Given the description of an element on the screen output the (x, y) to click on. 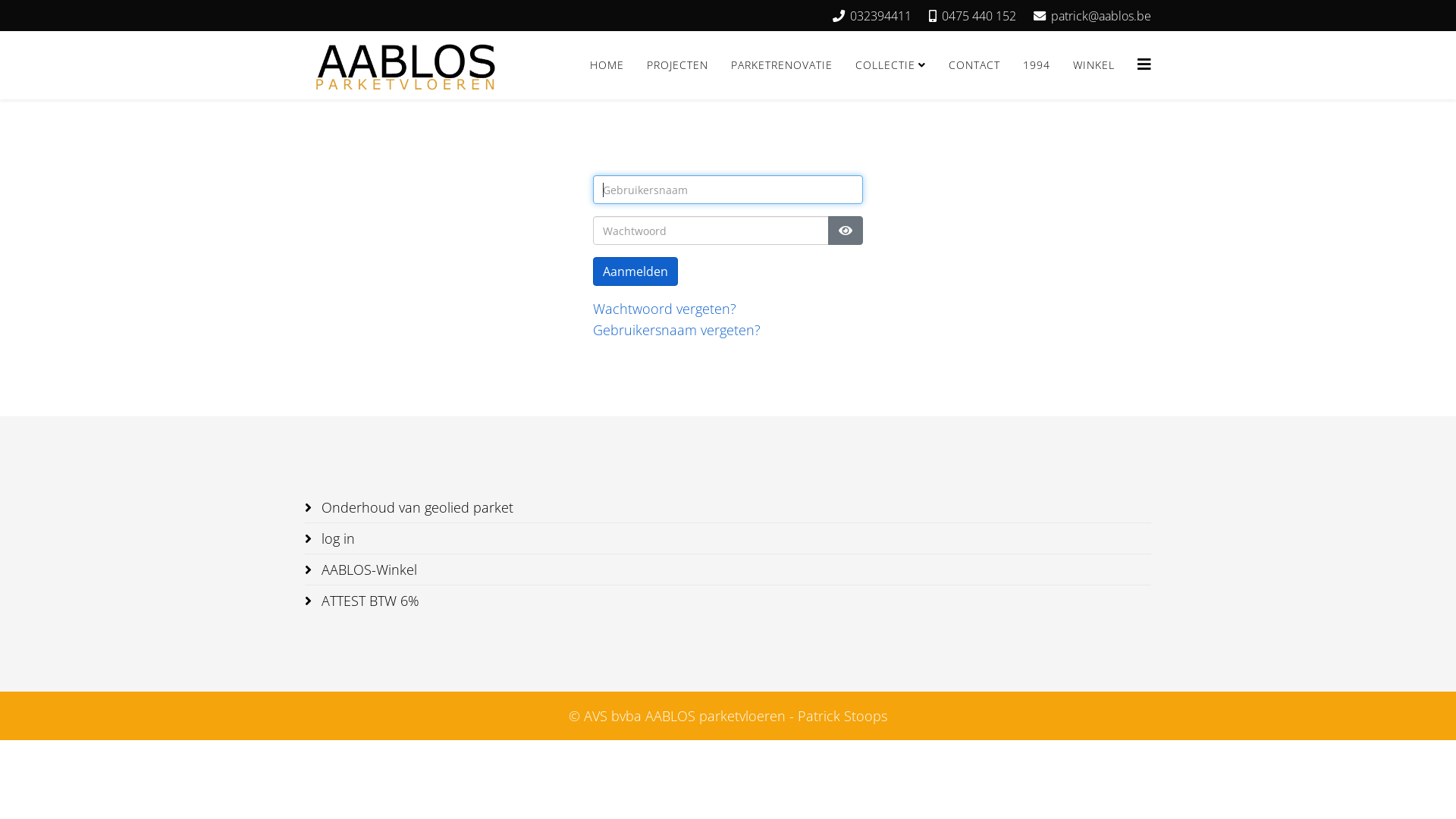
PROJECTEN Element type: text (677, 65)
Aanmelden Element type: text (635, 271)
1994 Element type: text (1036, 65)
WINKEL Element type: text (1093, 65)
0475 440 152 Element type: text (978, 15)
Onderhoud van geolied parket Element type: text (727, 507)
Helix3 Megamenu Options Element type: hover (1144, 64)
032394411 Element type: text (880, 15)
Wachtwoord vergeten? Element type: text (664, 308)
AABLOS-Winkel Element type: text (727, 569)
Gebruikersnaam vergeten? Element type: text (676, 329)
CONTACT Element type: text (974, 65)
PARKETRENOVATIE Element type: text (780, 65)
HOME Element type: text (605, 65)
patrick@aablos.be Element type: text (1101, 15)
ATTEST BTW 6% Element type: text (727, 600)
COLLECTIE Element type: text (890, 65)
log in Element type: text (727, 538)
Toon wachtwoord Element type: text (845, 230)
